Given the description of an element on the screen output the (x, y) to click on. 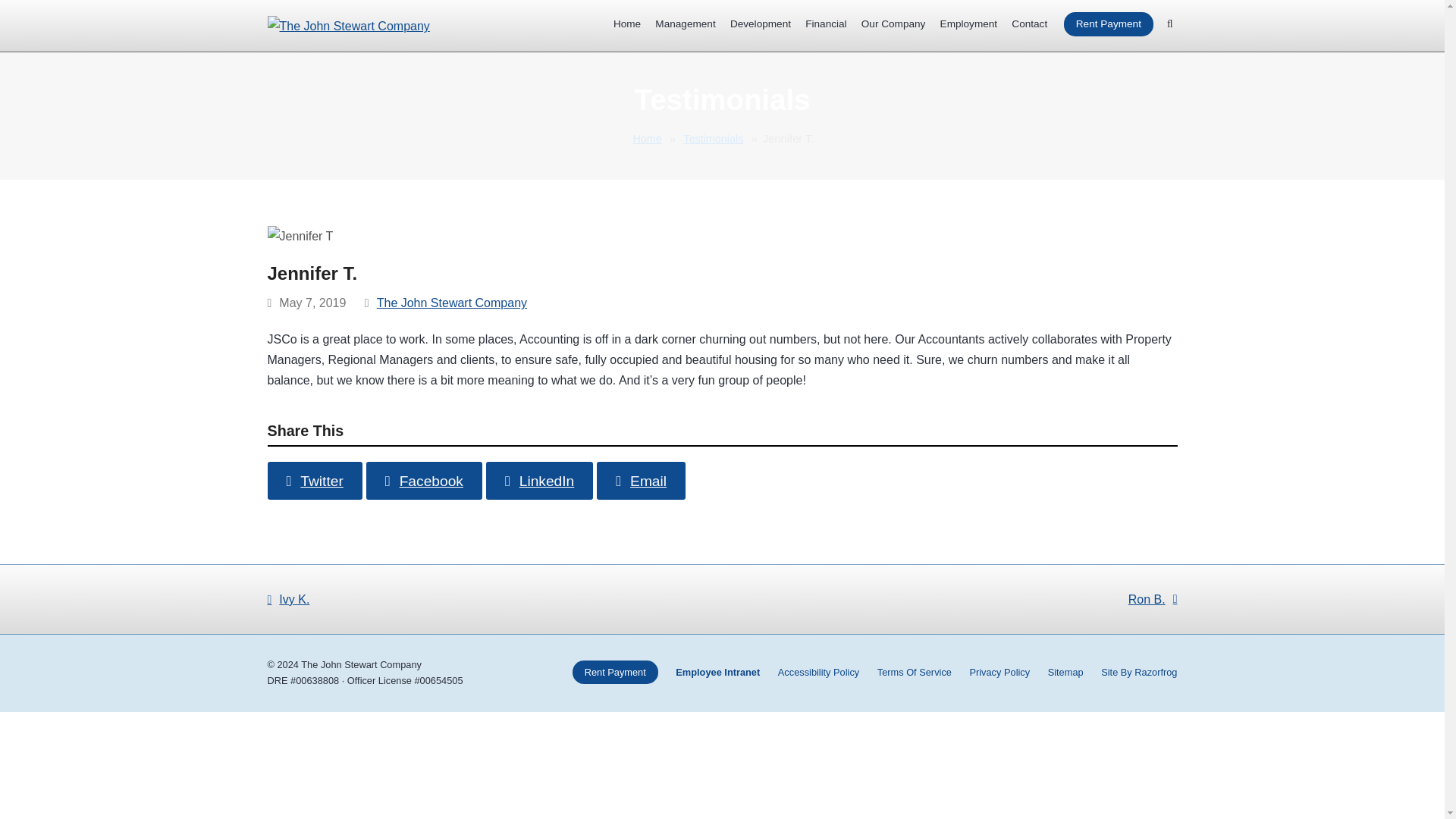
Employee Intranet (717, 672)
LinkedIn (539, 479)
Our Company (893, 24)
Rent Payment (1108, 24)
Financial (825, 24)
Posts by The John Stewart Company (452, 302)
Testimonials (713, 138)
Contact Us (1029, 24)
Employment (968, 24)
Facebook (423, 479)
